Given the description of an element on the screen output the (x, y) to click on. 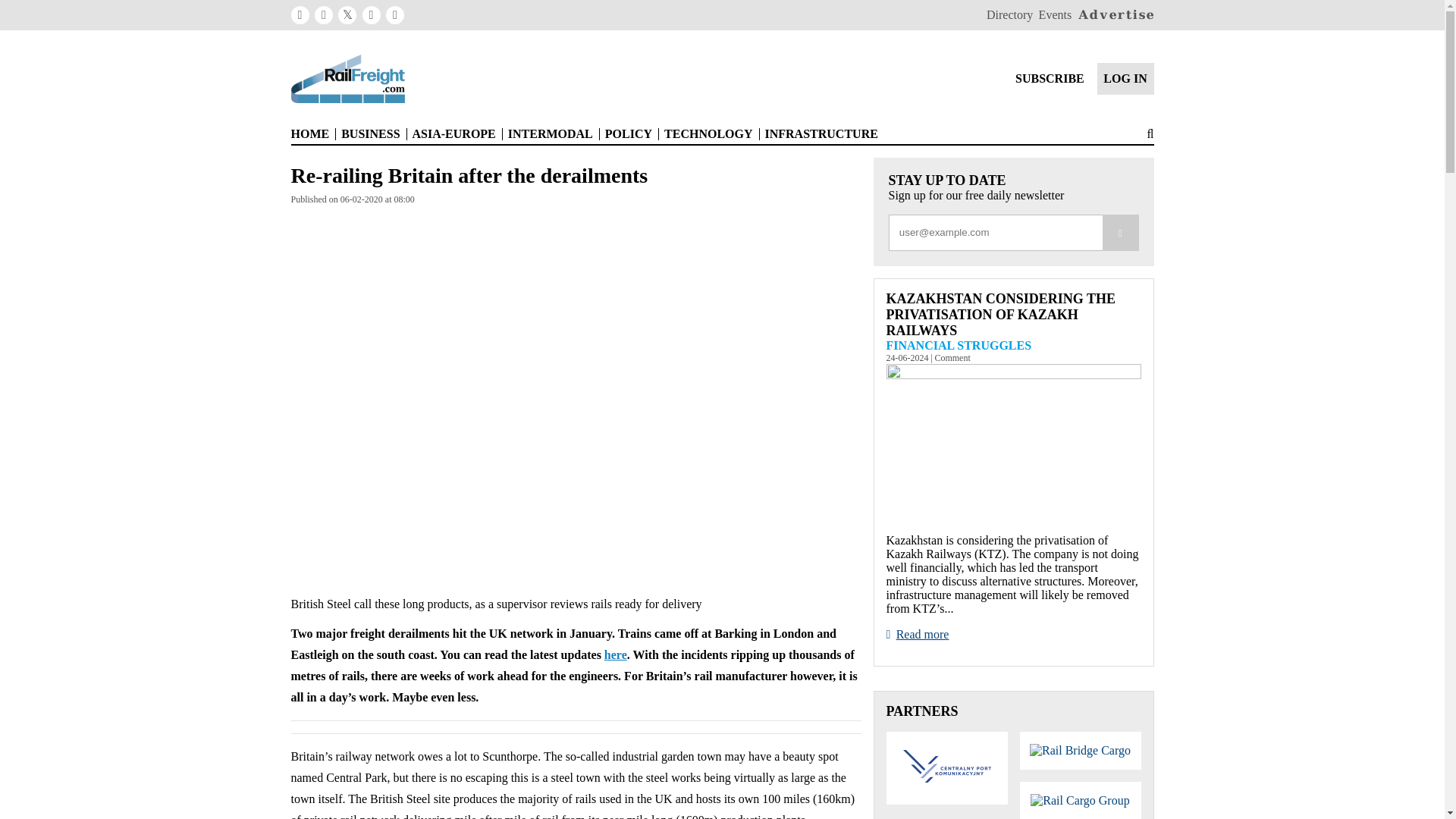
Home (299, 14)
YouTube (394, 14)
Facebook (323, 14)
Directory (1009, 14)
SUBSCRIBE (1049, 79)
LOG IN (1125, 79)
LinkedIn (371, 14)
Events (1055, 14)
here (615, 654)
ASIA-EUROPE (454, 133)
TECHNOLOGY (707, 133)
HOME (310, 133)
INFRASTRUCTURE (820, 133)
BUSINESS (369, 133)
INTERMODAL (550, 133)
